Given the description of an element on the screen output the (x, y) to click on. 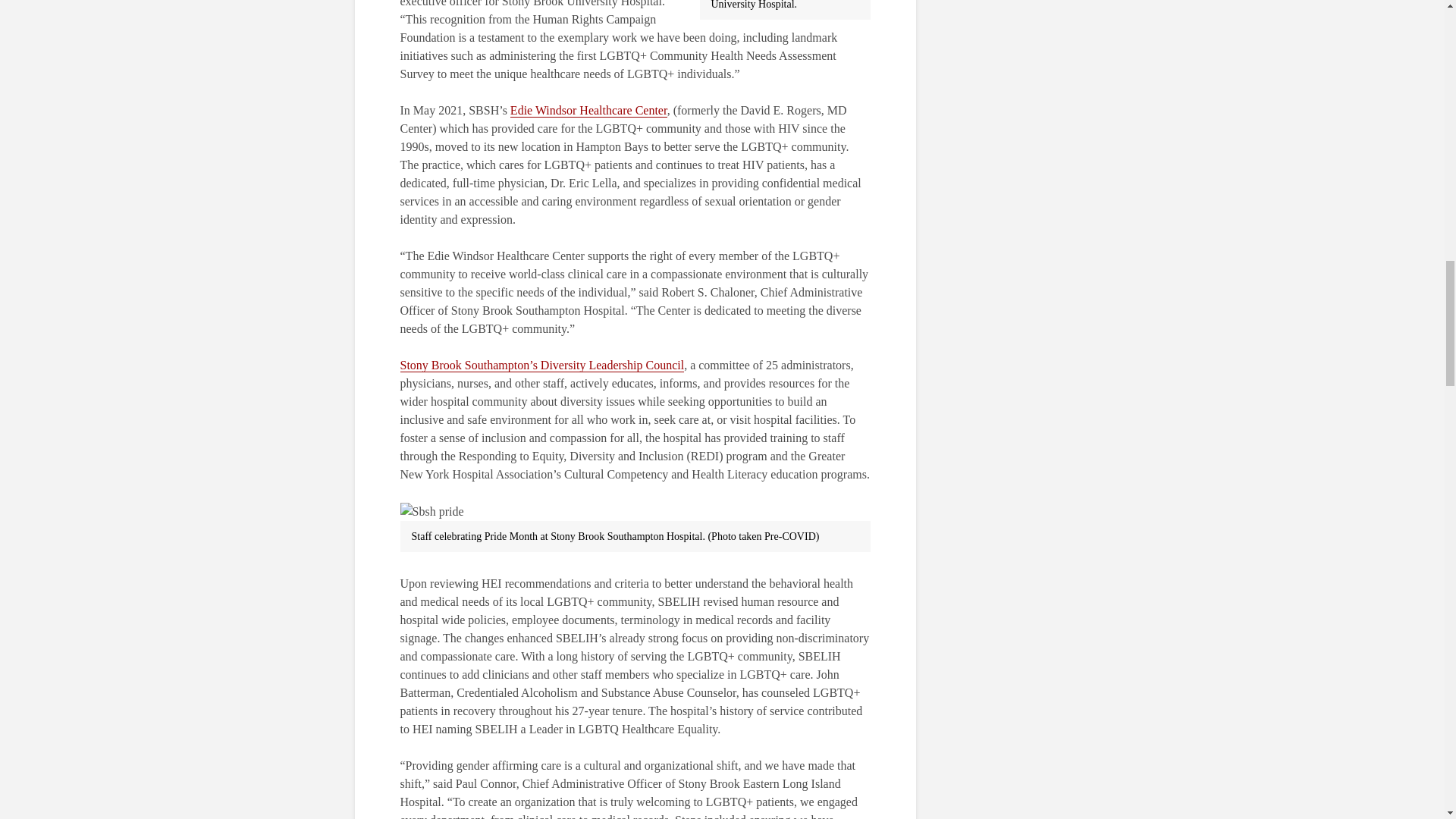
Sbsh pride (432, 511)
